Given the description of an element on the screen output the (x, y) to click on. 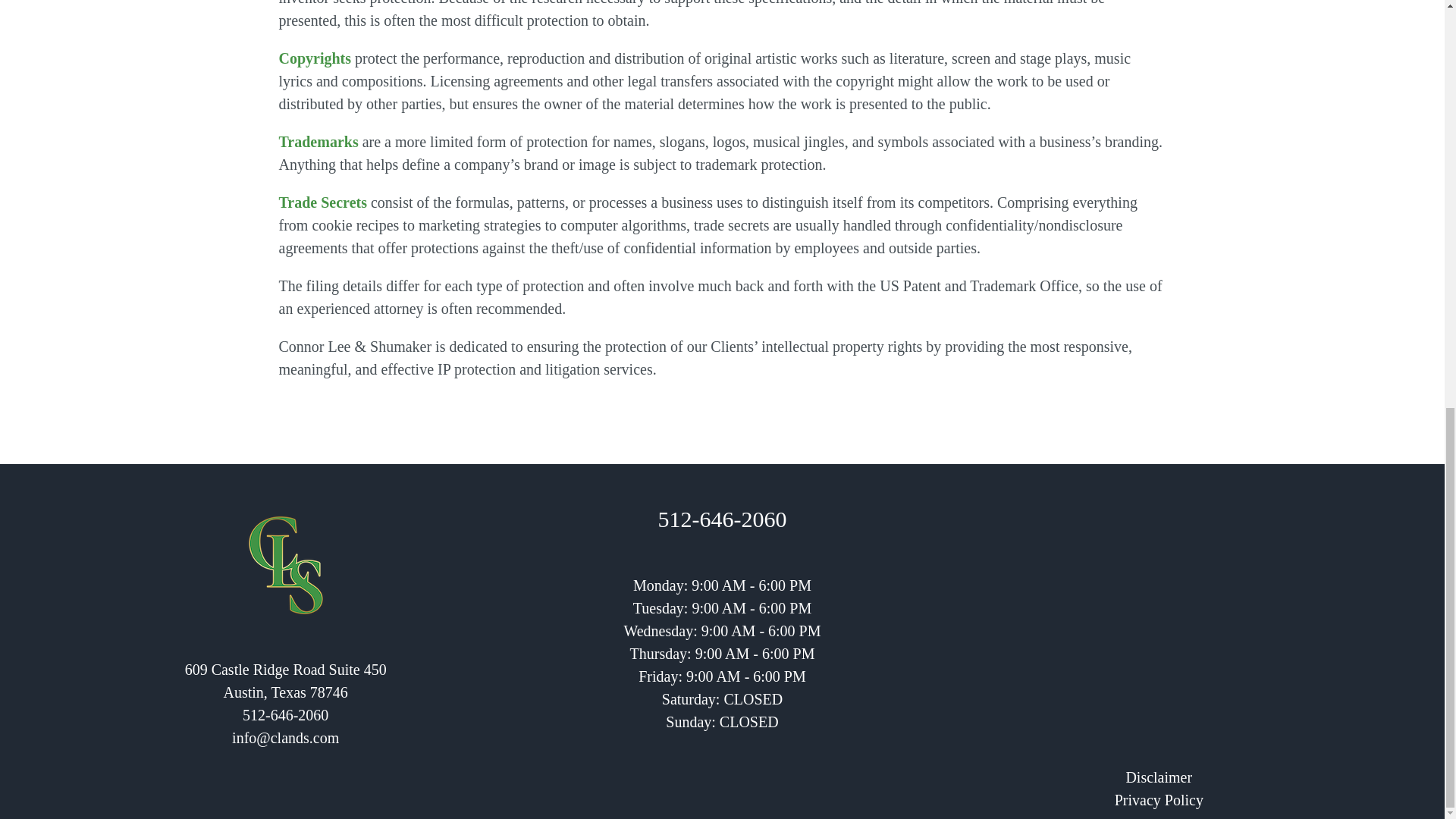
Disclaimer (1158, 777)
Trademarks (318, 141)
512-646-2060 (286, 714)
512-646-2060 (722, 518)
Copyrights (315, 57)
Trade Secrets (322, 202)
Privacy Policy (1159, 799)
